Given the description of an element on the screen output the (x, y) to click on. 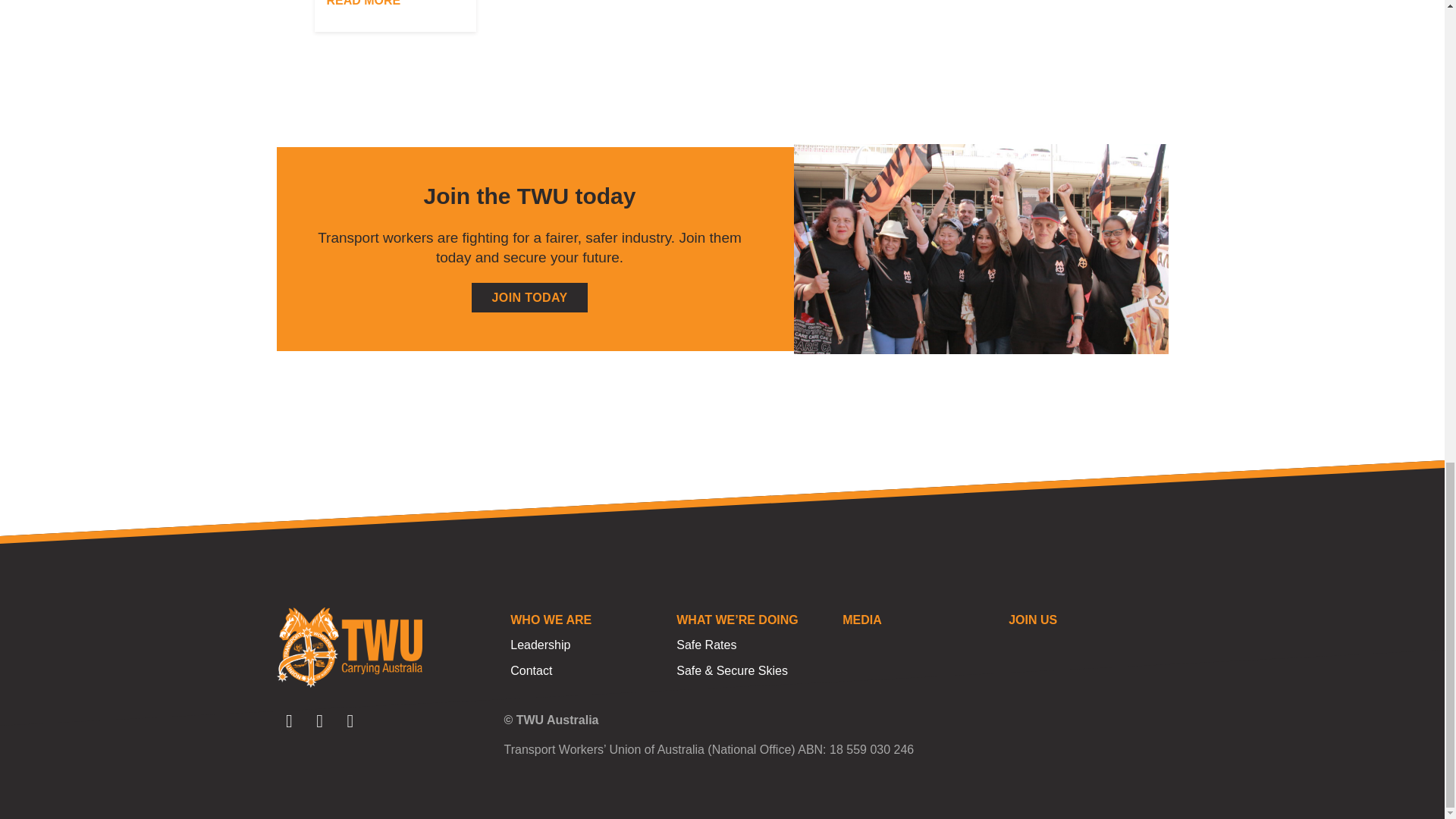
JOIN TODAY (528, 297)
WHO WE ARE (586, 620)
Leadership (586, 645)
Safe Rates (752, 645)
JOIN US (1084, 620)
MEDIA (918, 620)
Contact (586, 670)
